Given the description of an element on the screen output the (x, y) to click on. 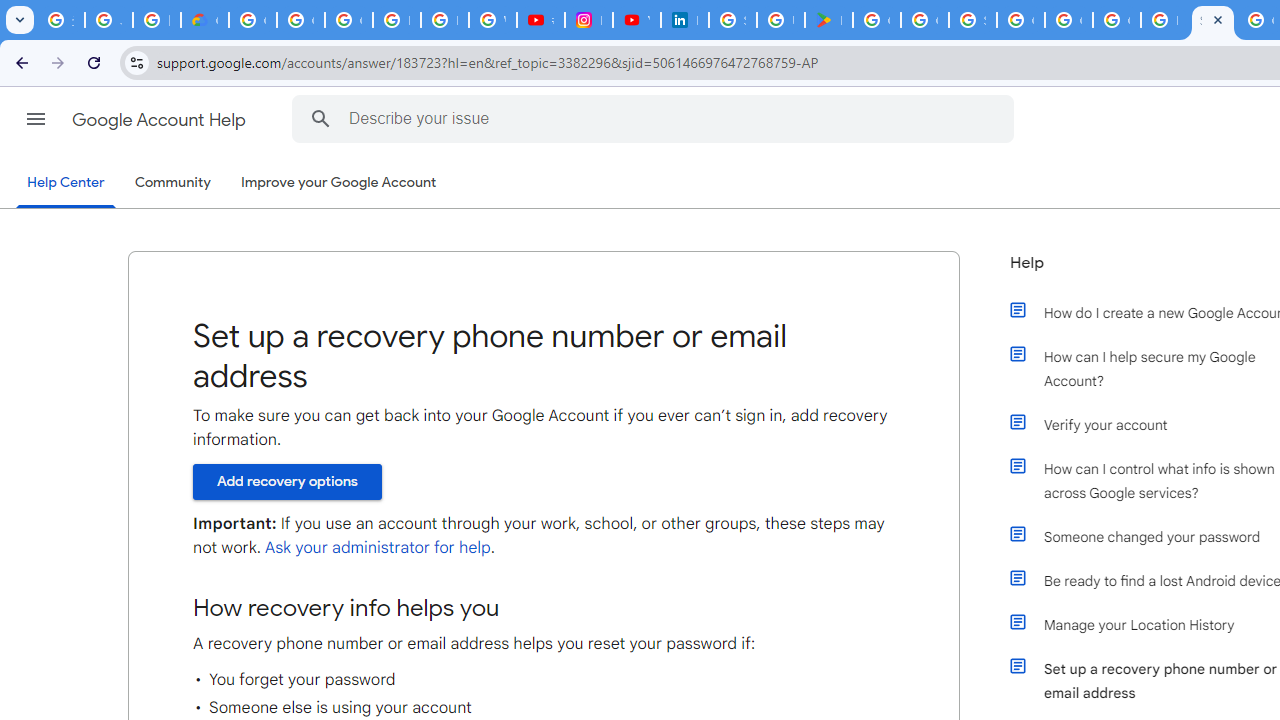
Google Workspace - Specific Terms (924, 20)
How do I create a new Google Account? - Google Account Help (1164, 20)
Google Account Help (160, 119)
Ask your administrator for help (377, 547)
Privacy Help Center - Policies Help (444, 20)
Search Help Center (320, 118)
Describe your issue (655, 118)
Add recovery options (287, 481)
Sign in - Google Accounts (732, 20)
